Given the description of an element on the screen output the (x, y) to click on. 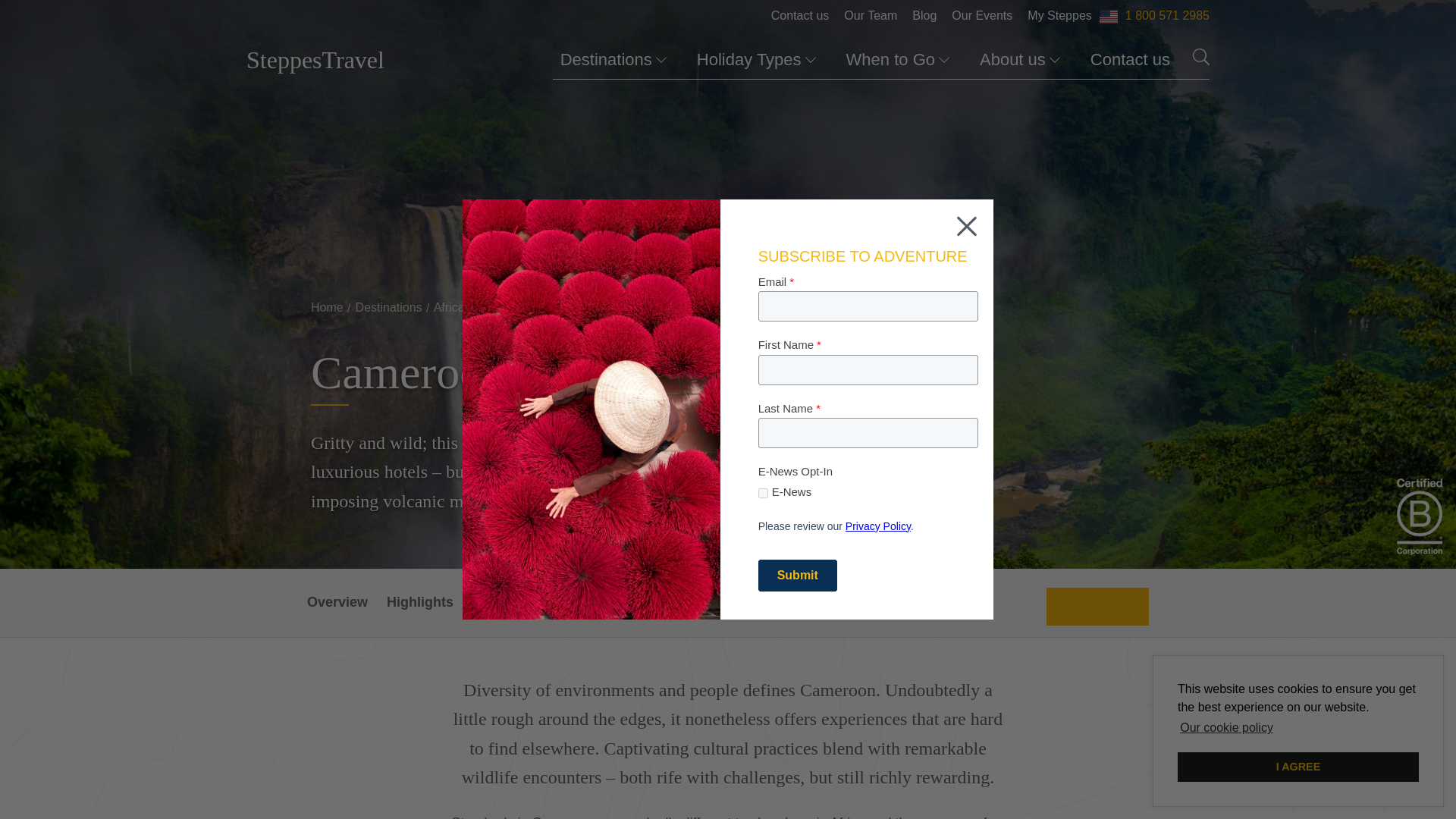
When to Go (897, 60)
Our Team (869, 15)
Blog (923, 15)
Destinations (613, 60)
Contact us (798, 15)
About us (1019, 60)
Our cookie policy (1226, 727)
Our Events (981, 15)
I AGREE (1297, 767)
Holiday Types (756, 60)
SteppesTravel (315, 60)
Contact us (1130, 60)
My Steppes (1059, 15)
